Given the description of an element on the screen output the (x, y) to click on. 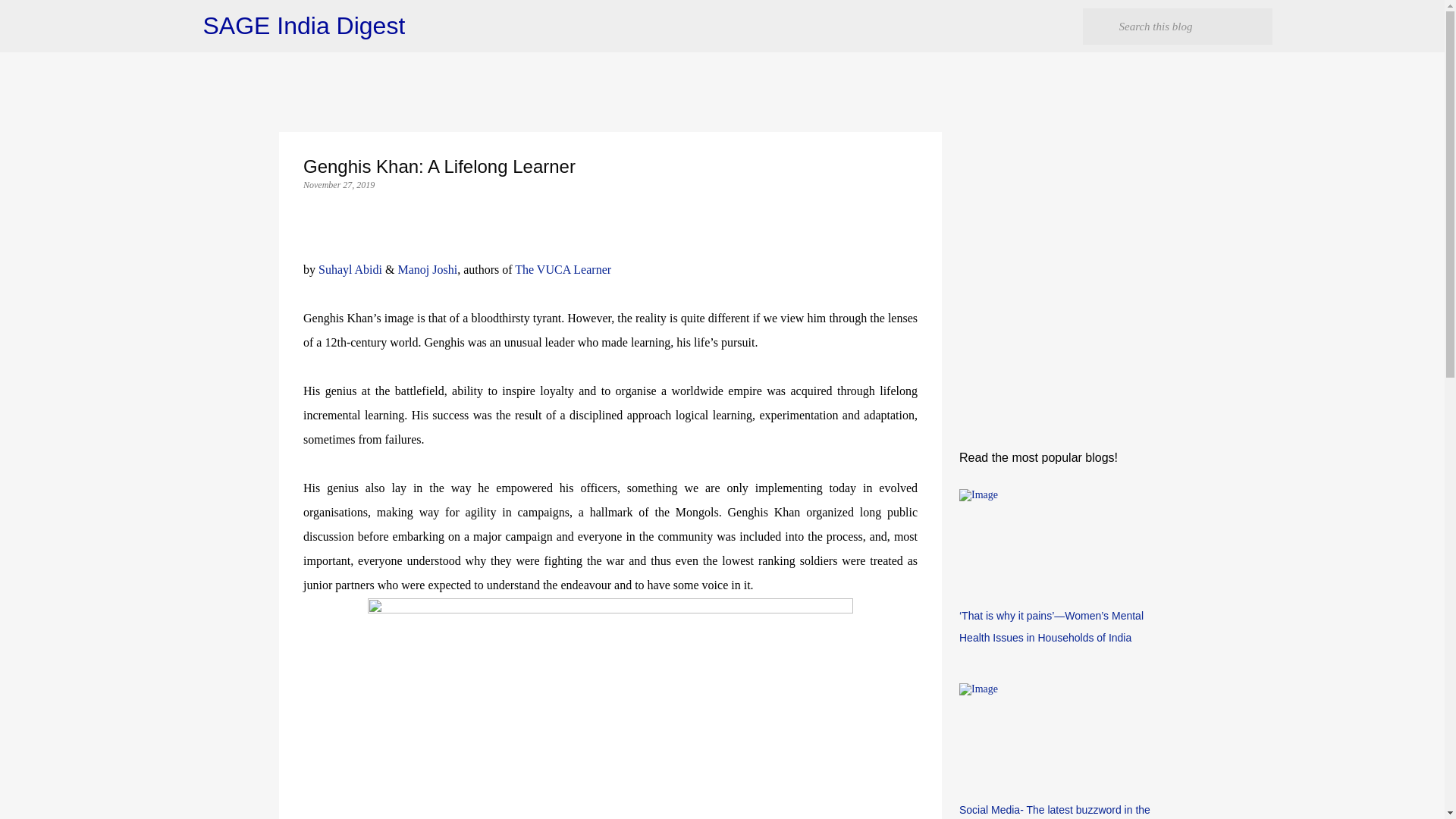
Manoj Joshi (427, 269)
permanent link (338, 184)
Suhayl Abidi (349, 269)
Social Media- The latest buzzword in the world of marketing! (1054, 811)
The VUCA Learner (563, 269)
November 27, 2019 (338, 184)
SAGE India Digest (304, 25)
